Given the description of an element on the screen output the (x, y) to click on. 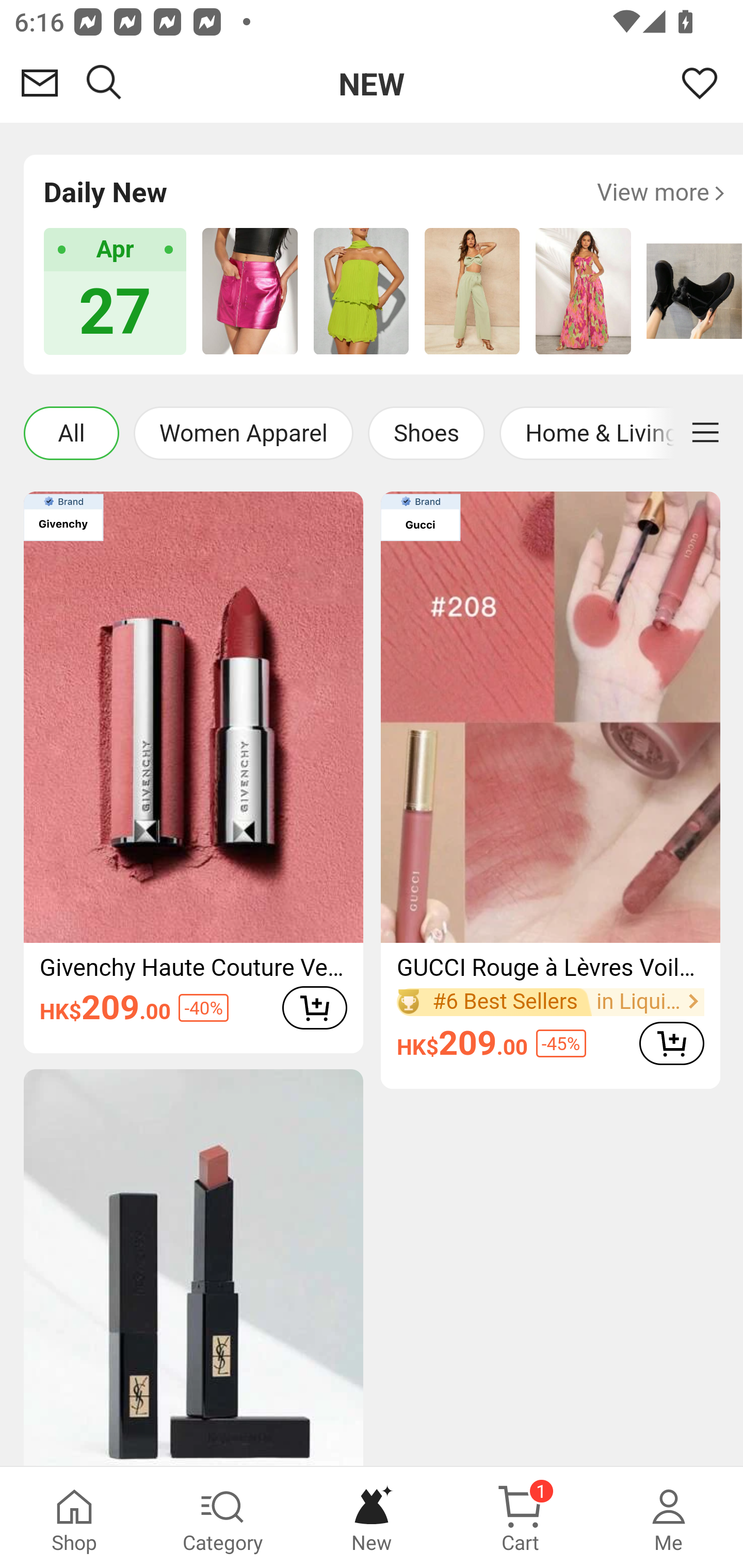
Search NEW Wishlist (371, 82)
Search (104, 82)
Wishlist (699, 82)
Shop (74, 1517)
Category (222, 1517)
Cart 1 Cart (519, 1517)
Me (668, 1517)
